Given the description of an element on the screen output the (x, y) to click on. 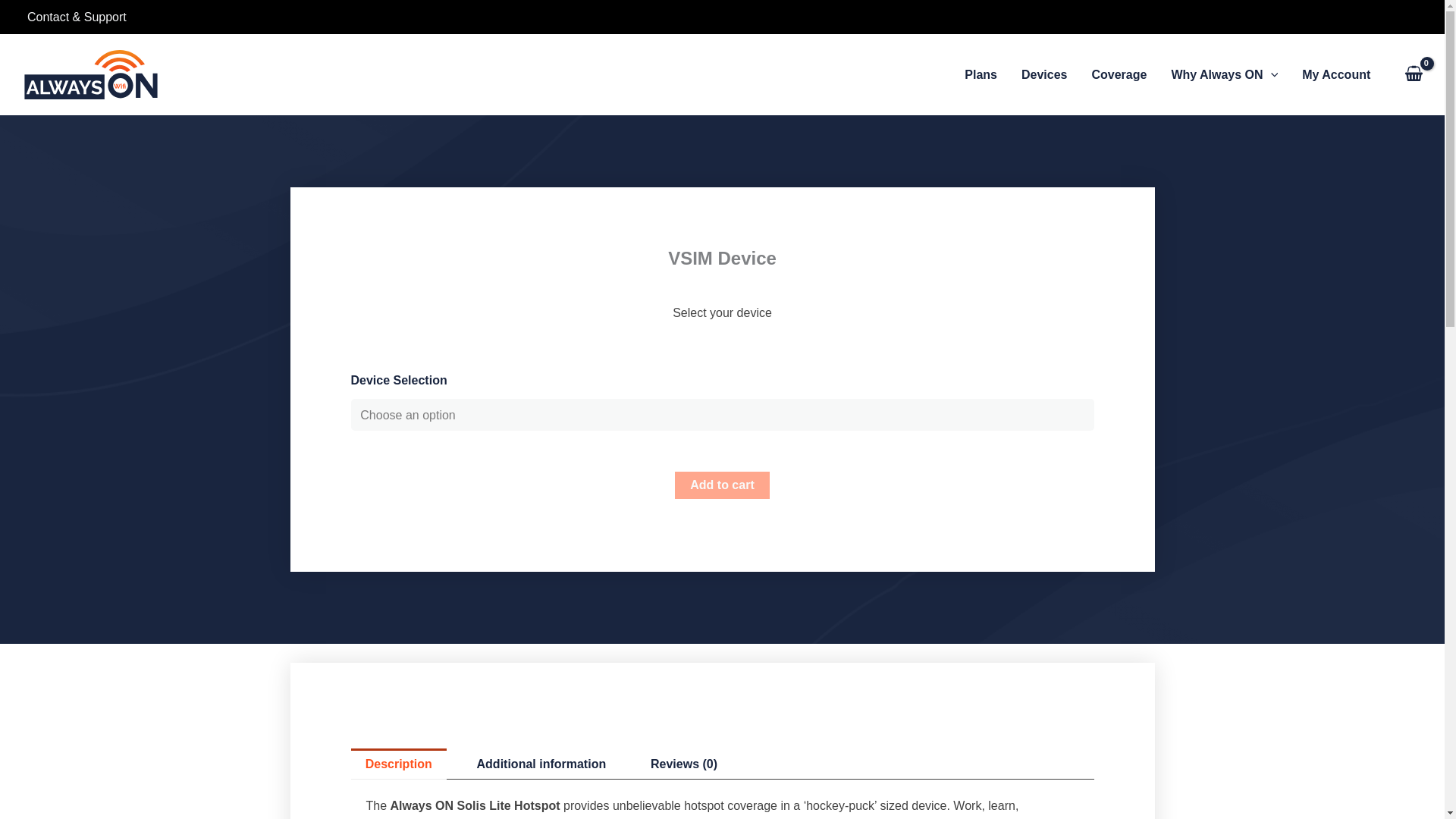
Add to cart (721, 484)
Devices (1044, 74)
Description (397, 764)
Plans (980, 74)
Coverage (1118, 74)
My Account (1335, 74)
Why Always ON (1224, 74)
